Given the description of an element on the screen output the (x, y) to click on. 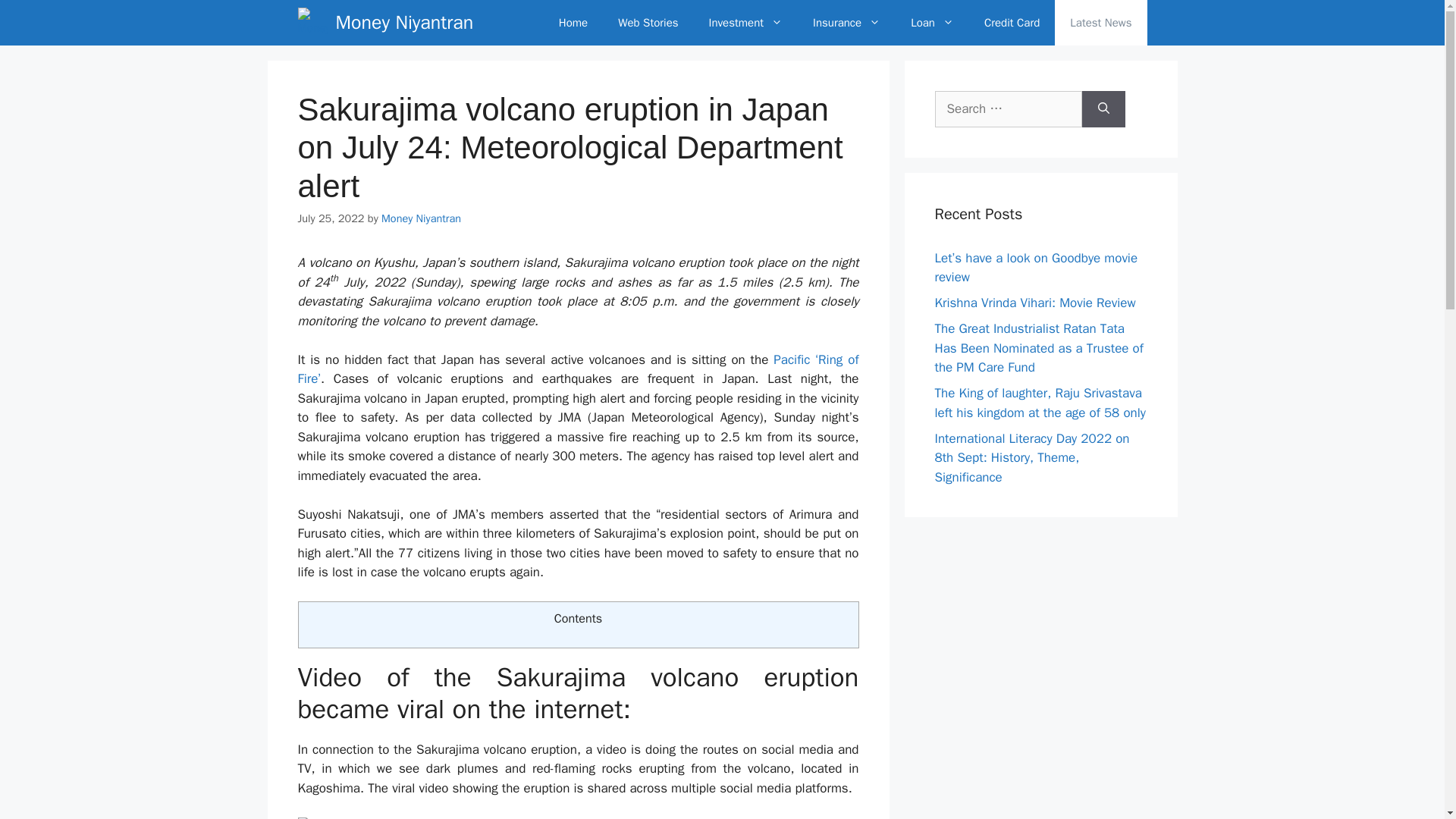
Credit Card (1011, 22)
Investment (745, 22)
Money Niyantran (403, 22)
Loan (932, 22)
View all posts by Money Niyantran (421, 218)
Krishna Vrinda Vihari: Movie Review (1034, 302)
Search for: (1007, 108)
